Given the description of an element on the screen output the (x, y) to click on. 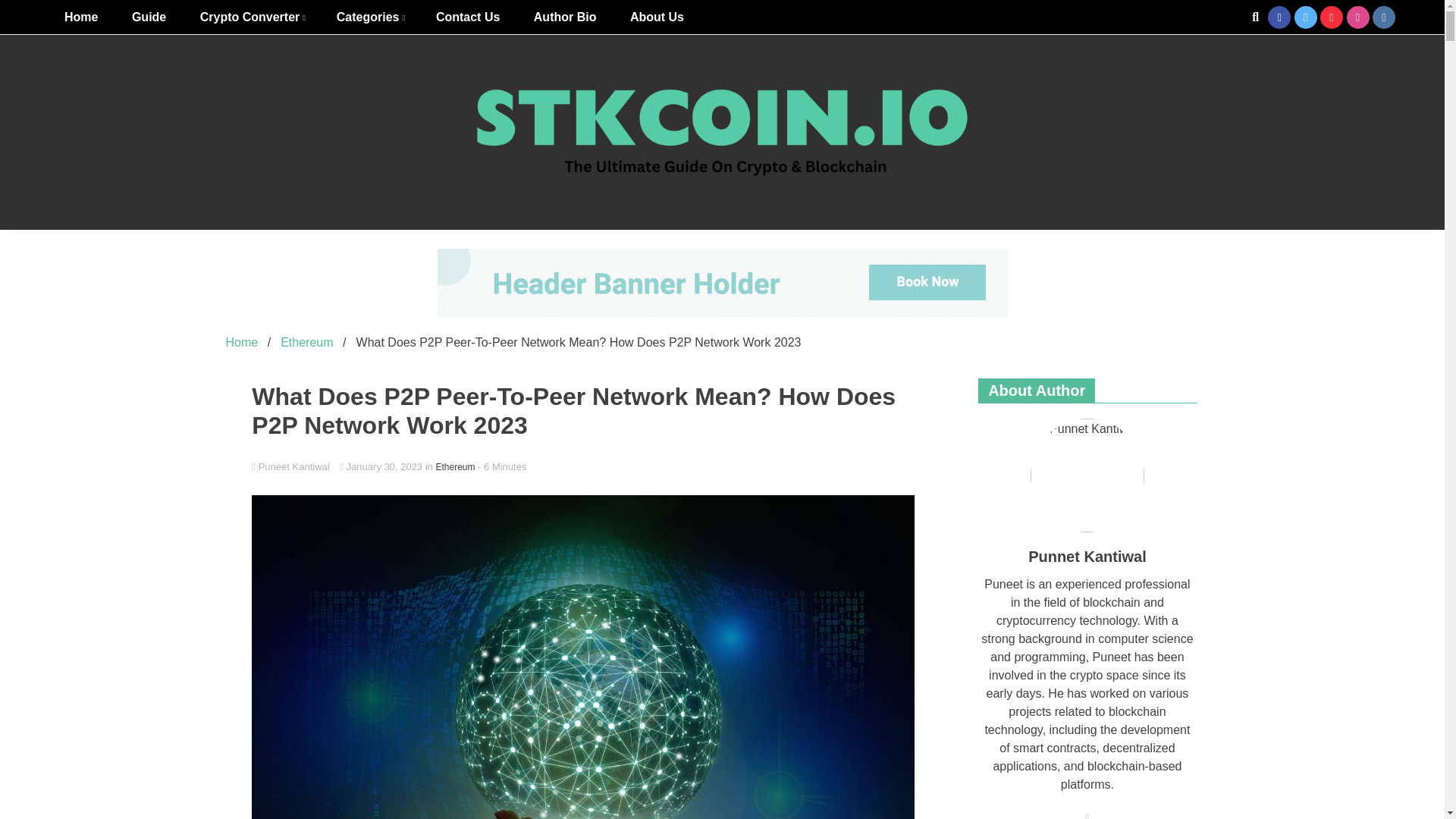
Home (242, 341)
Estimated Reading Time of Article (501, 466)
Categories (369, 17)
Punnet Kantiwal  (1087, 475)
Guide (148, 17)
Home (81, 17)
Author Bio (564, 17)
Ethereum (454, 467)
STKCOIN.IO (808, 265)
Crypto Converter (251, 17)
